Given the description of an element on the screen output the (x, y) to click on. 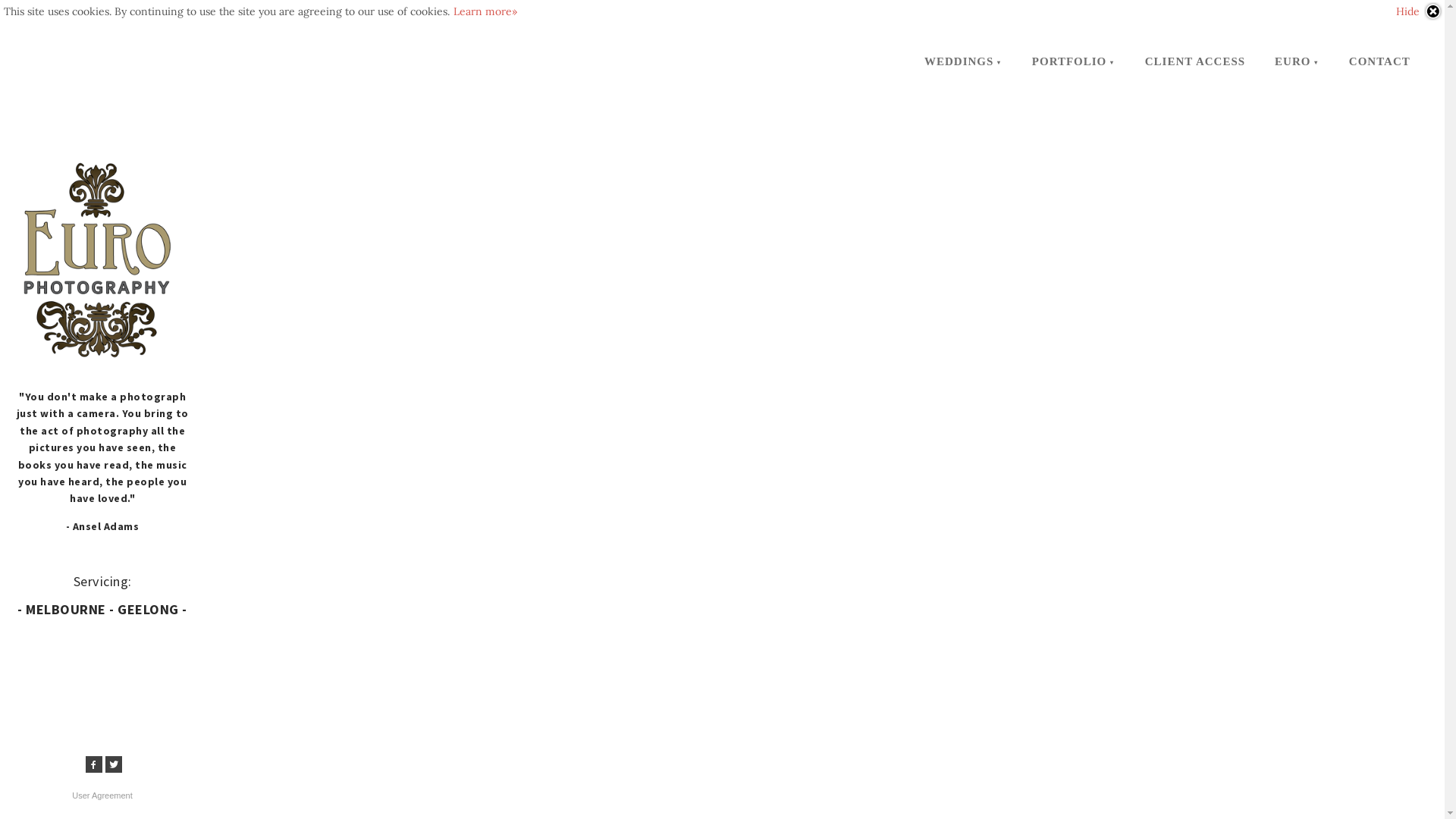
User Agreement Element type: text (101, 795)
Hide Element type: text (1419, 11)
CONTACT Element type: text (1379, 61)
CLIENT ACCESS Element type: text (1194, 61)
Euro Photography Element type: hover (94, 256)
